Given the description of an element on the screen output the (x, y) to click on. 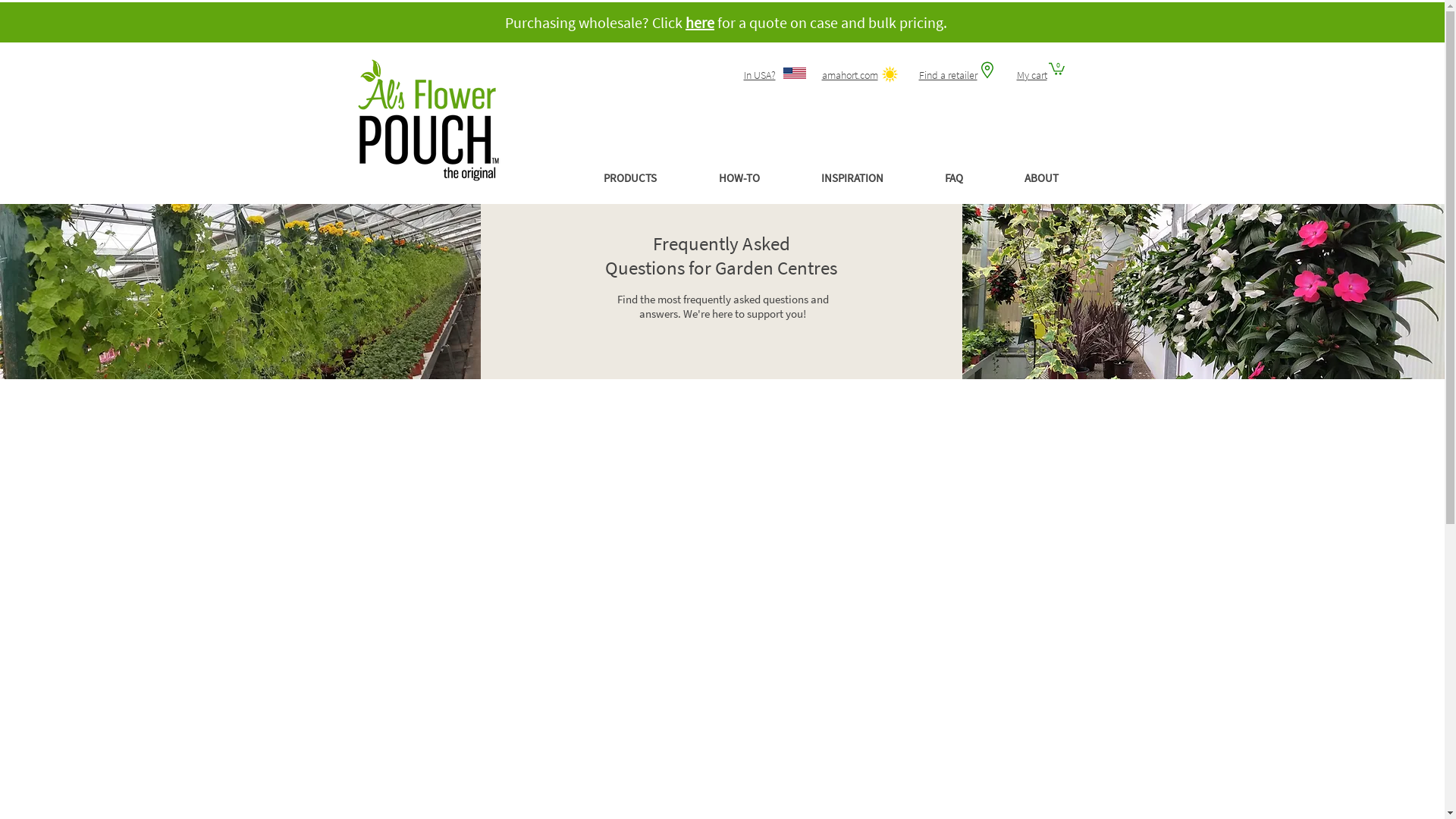
Find a retailer Element type: text (948, 74)
PRODUCTS Element type: text (630, 178)
My cart Element type: text (1031, 74)
HOW-TO Element type: text (738, 178)
0 Element type: text (1055, 68)
In USA? Element type: text (759, 74)
INSPIRATION Element type: text (851, 178)
here Element type: text (699, 21)
amahort.com Element type: text (850, 74)
